Given the description of an element on the screen output the (x, y) to click on. 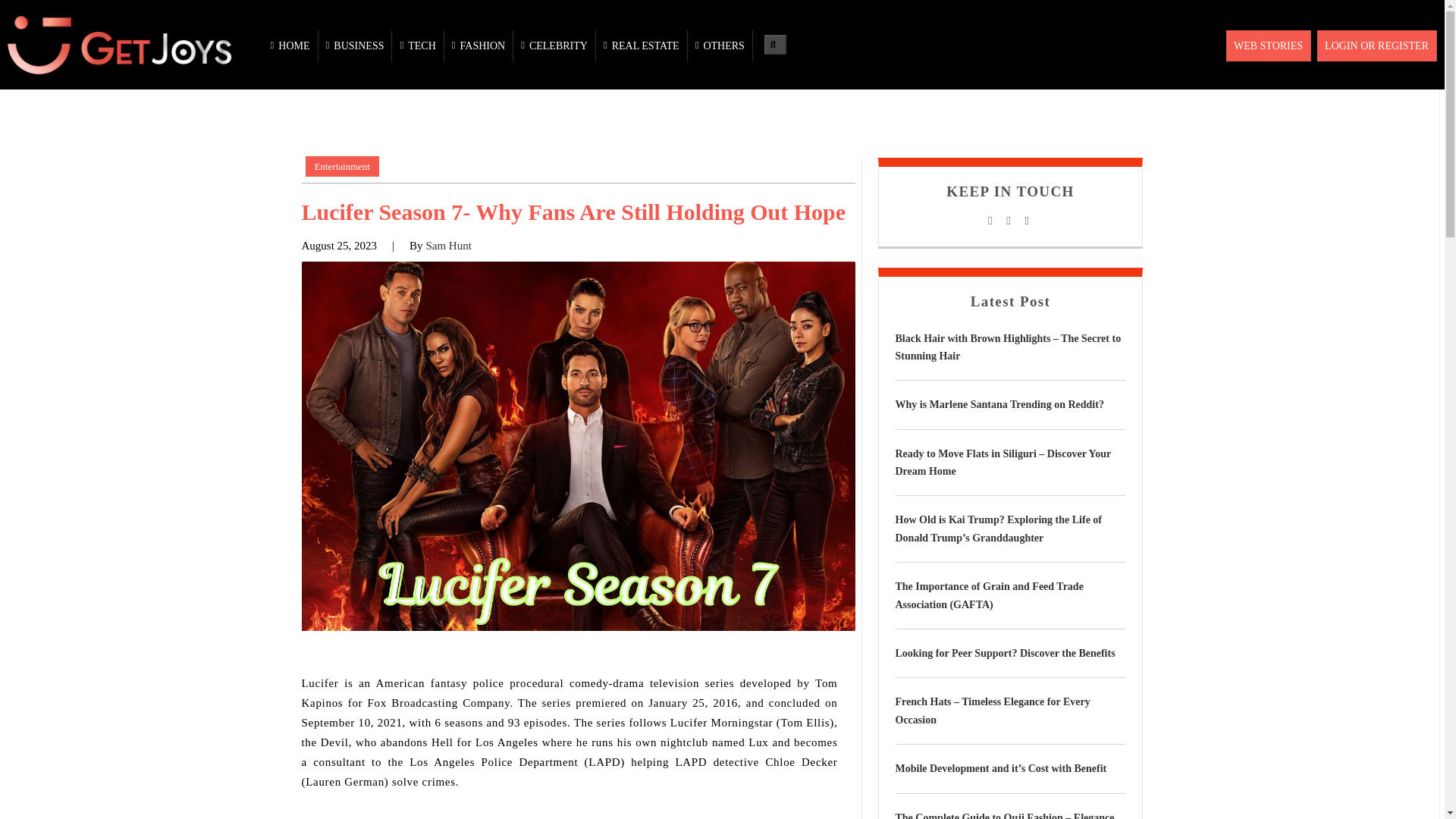
FASHION (478, 45)
BUSINESS (355, 45)
Posts by Sam Hunt (447, 245)
REAL ESTATE (641, 45)
OTHERS (719, 45)
HOME (290, 45)
September 13, 2017 (339, 245)
TECH (417, 45)
CELEBRITY (554, 45)
